Given the description of an element on the screen output the (x, y) to click on. 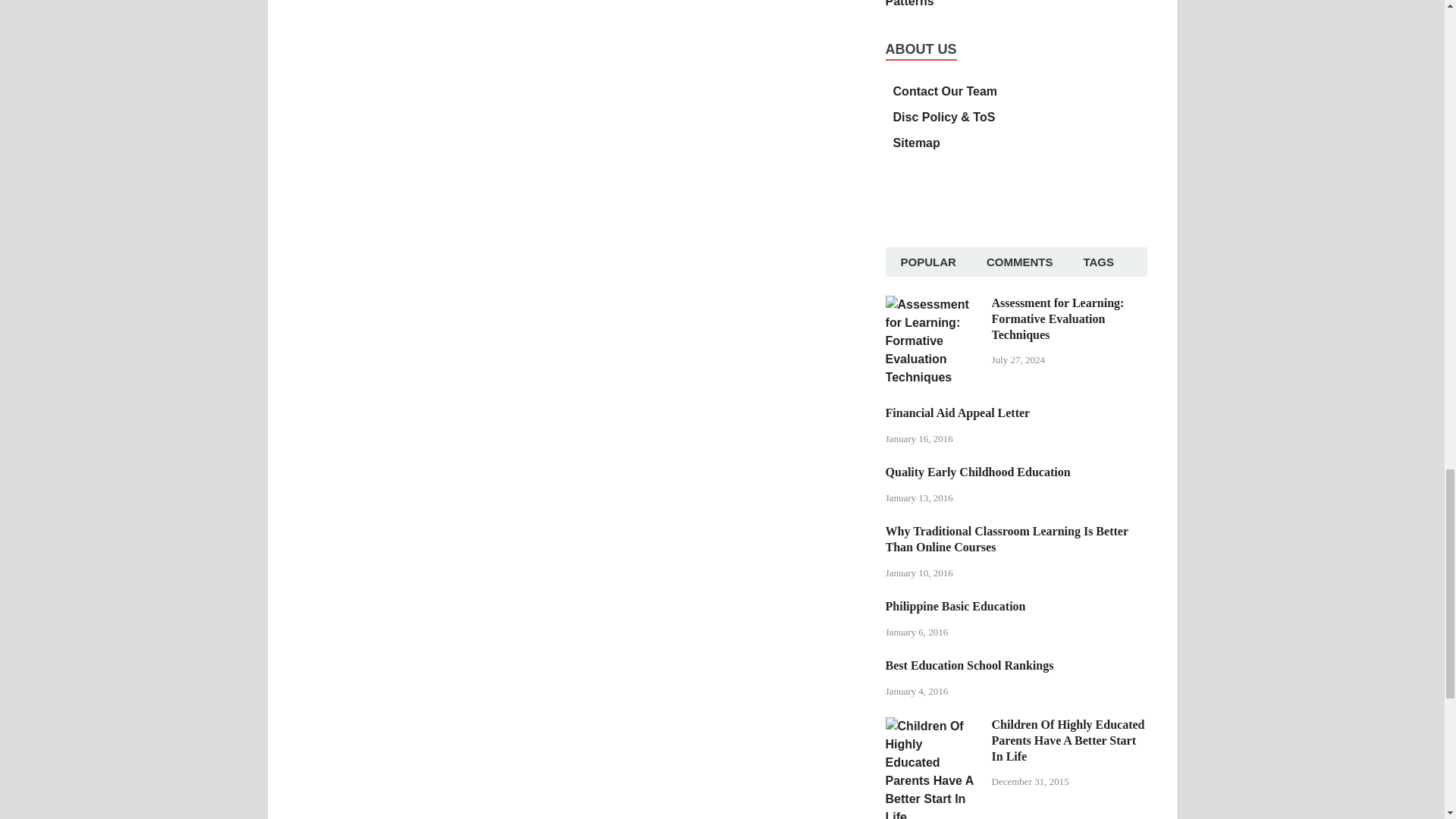
Assessment for Learning: Formative Evaluation Techniques (932, 304)
